Given the description of an element on the screen output the (x, y) to click on. 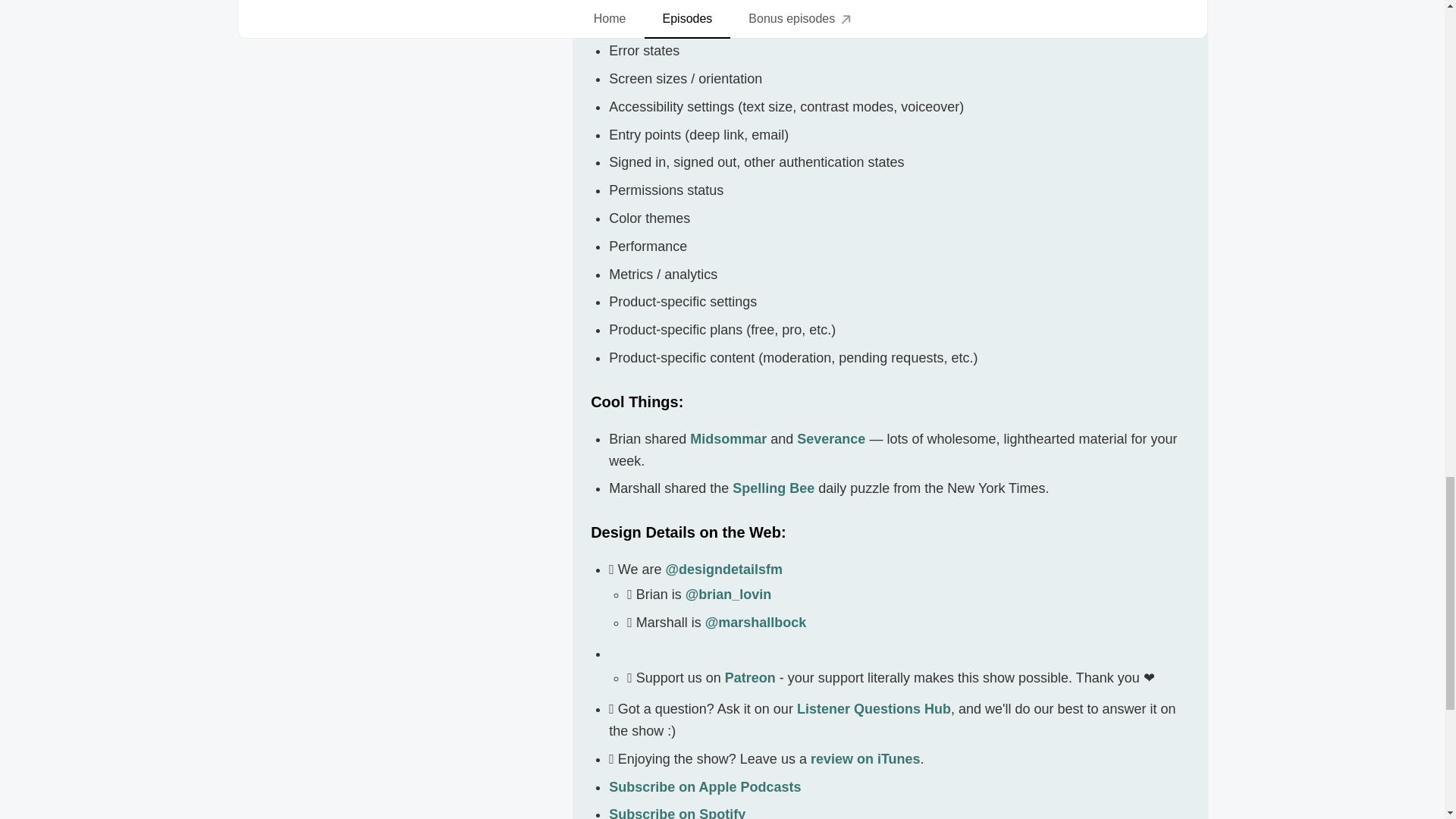
Listener Questions Hub (873, 708)
review on iTunes (865, 758)
Patreon (750, 677)
Subscribe on Apple Podcasts (704, 786)
Subscribe on Spotify (676, 812)
Spelling Bee (772, 488)
Severance (830, 438)
Midsommar (728, 438)
